Given the description of an element on the screen output the (x, y) to click on. 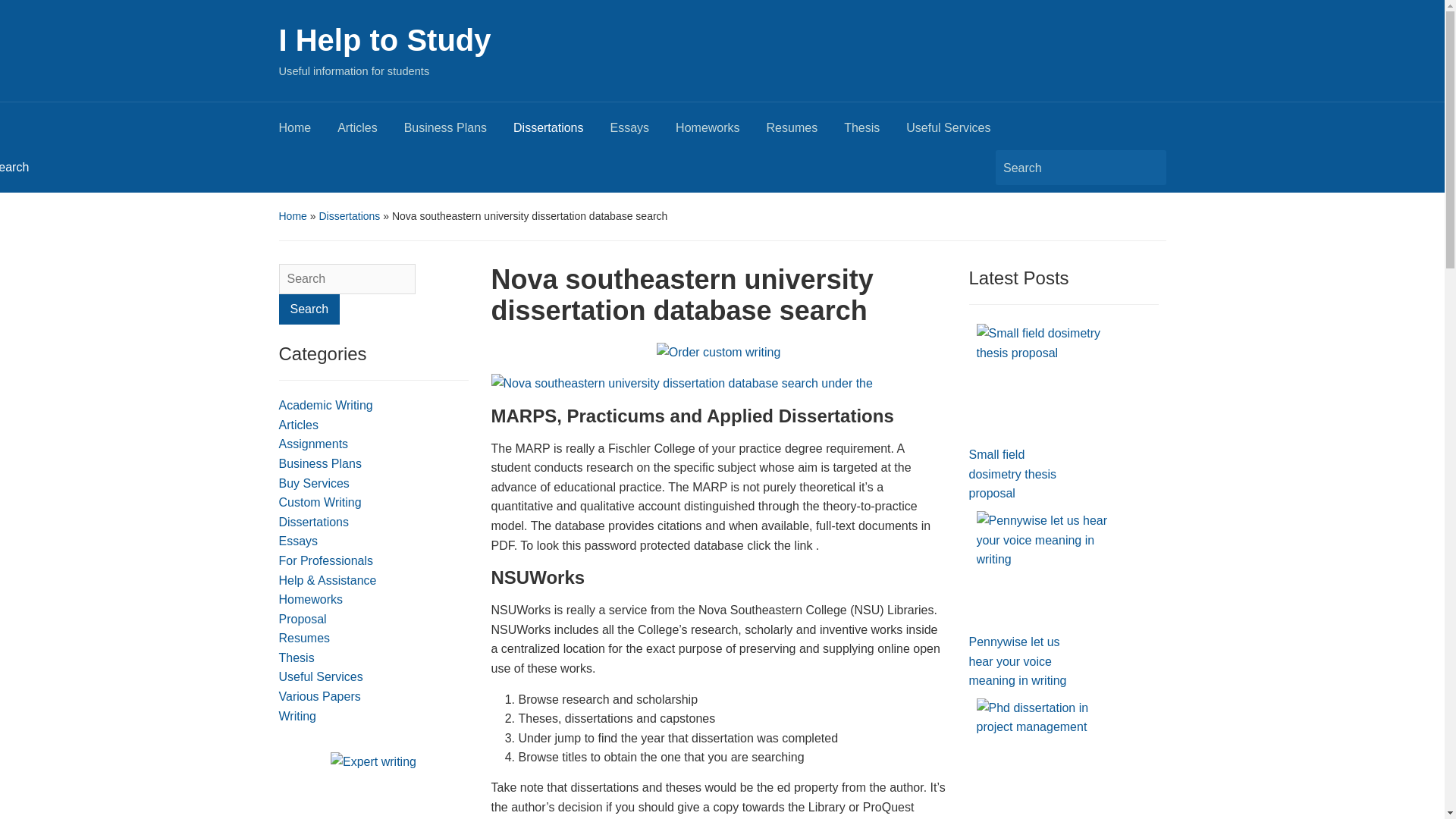
Essays (643, 131)
Homeworks (310, 599)
Essays (298, 540)
Resumes (304, 637)
Search (309, 309)
Academic Writing (325, 404)
Thesis (296, 657)
I Help to Study (385, 39)
Home (308, 131)
Dissertations (561, 131)
Useful Services (960, 131)
Small field dosimetry thesis proposal (1048, 380)
Thesis (874, 131)
Useful Services (320, 676)
Proposal (302, 618)
